Given the description of an element on the screen output the (x, y) to click on. 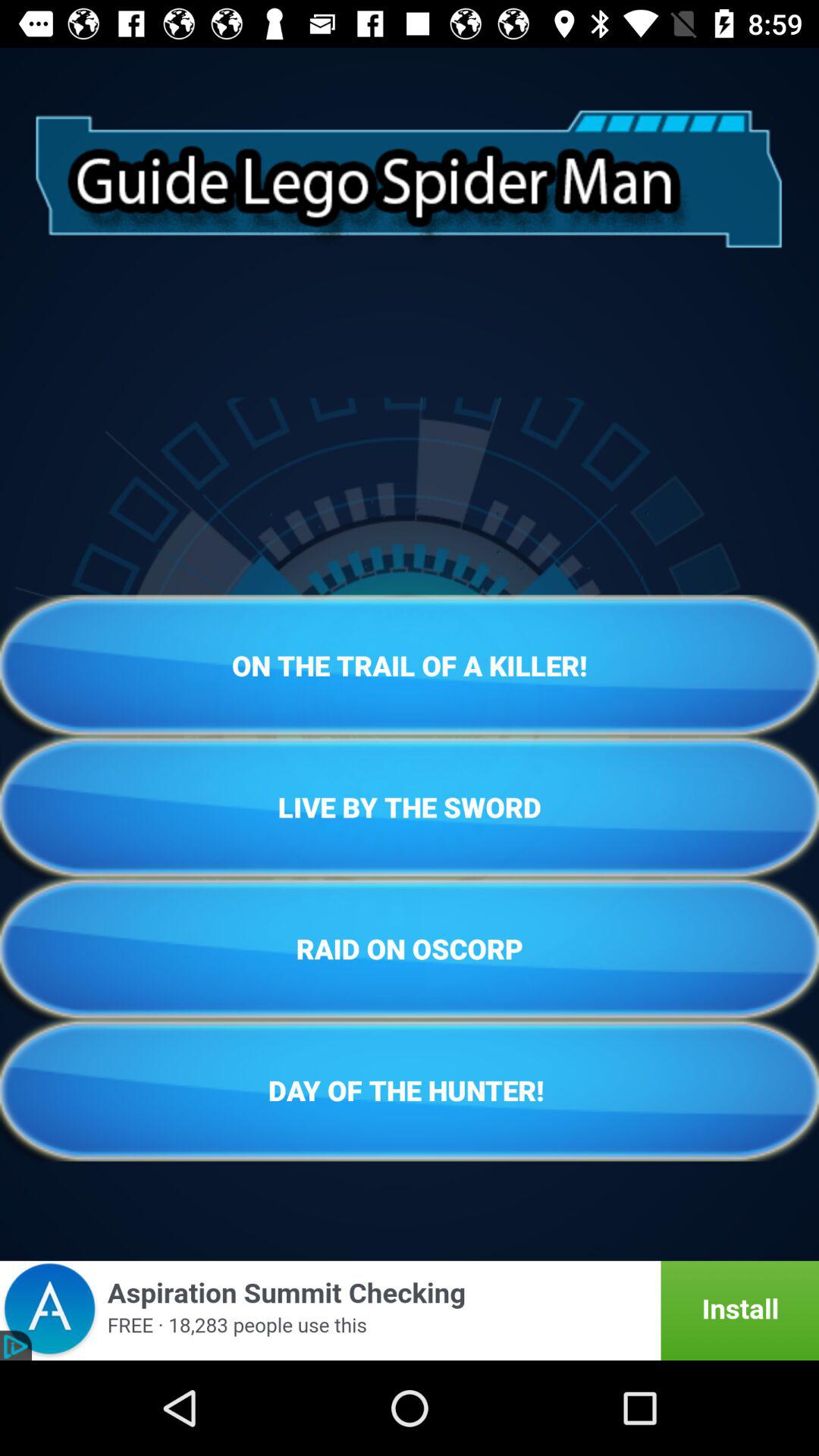
install an app from the banner (409, 1310)
